Given the description of an element on the screen output the (x, y) to click on. 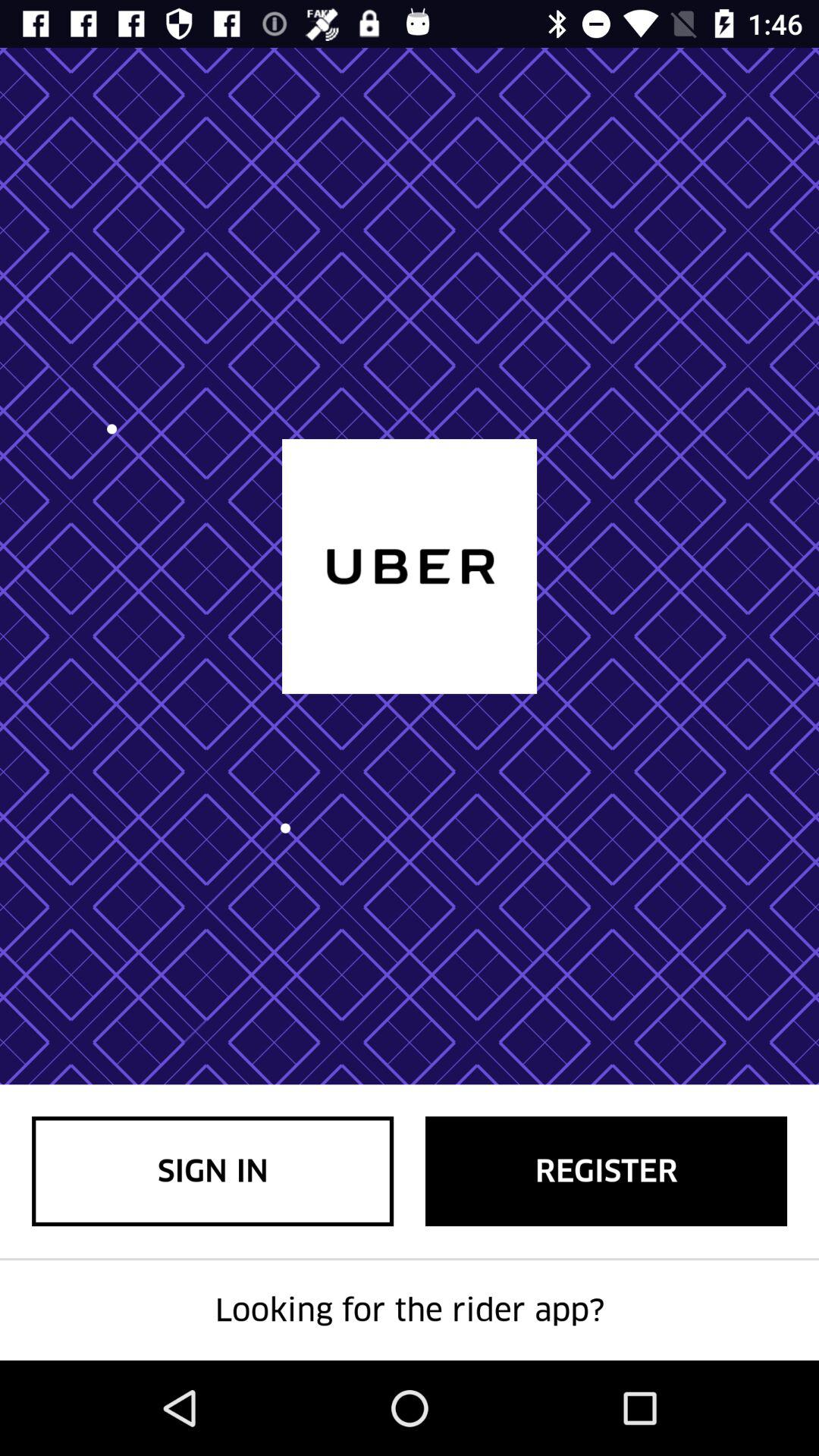
open the item to the left of register item (212, 1171)
